Given the description of an element on the screen output the (x, y) to click on. 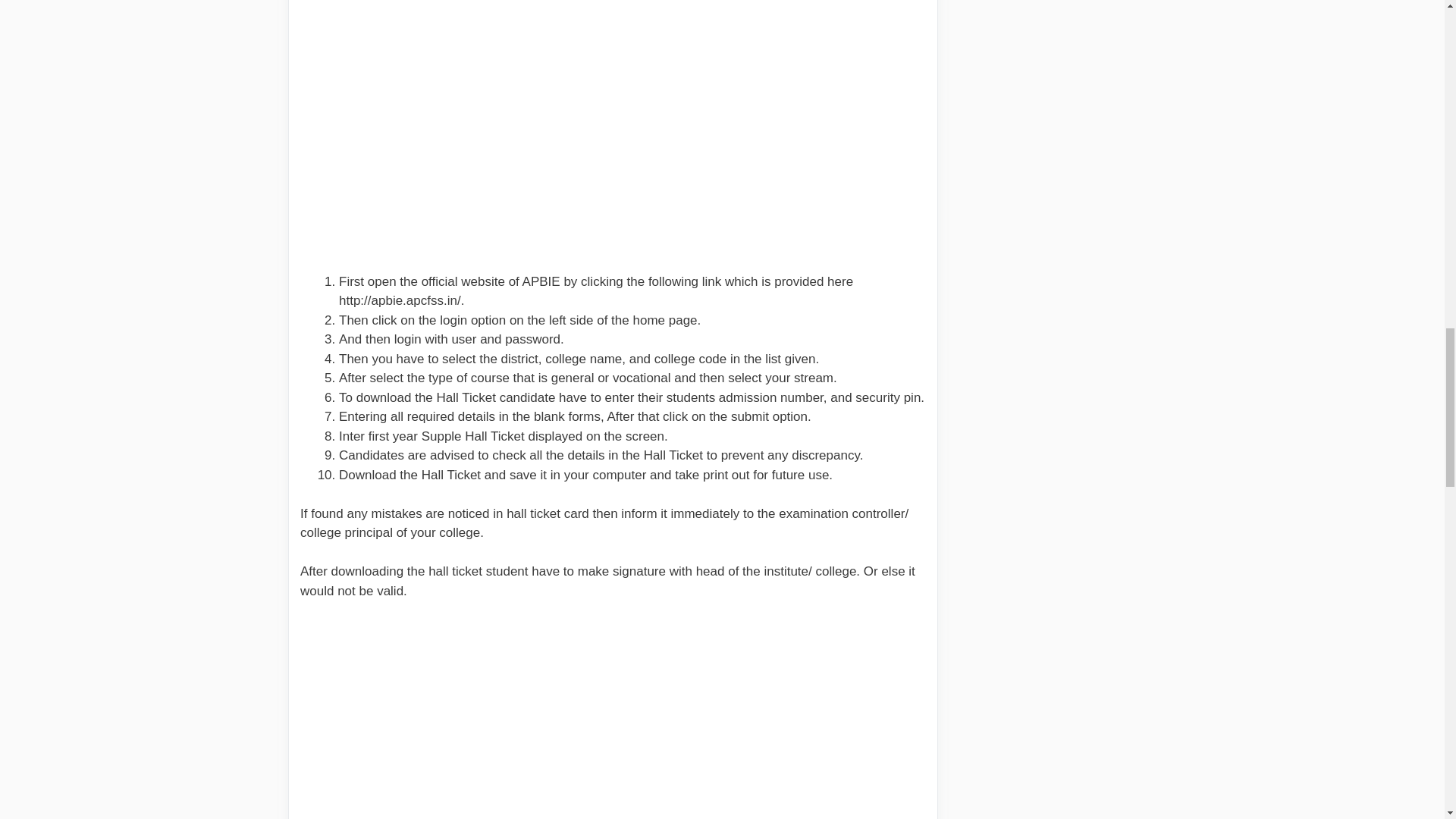
3rd party ad content (614, 719)
